Given the description of an element on the screen output the (x, y) to click on. 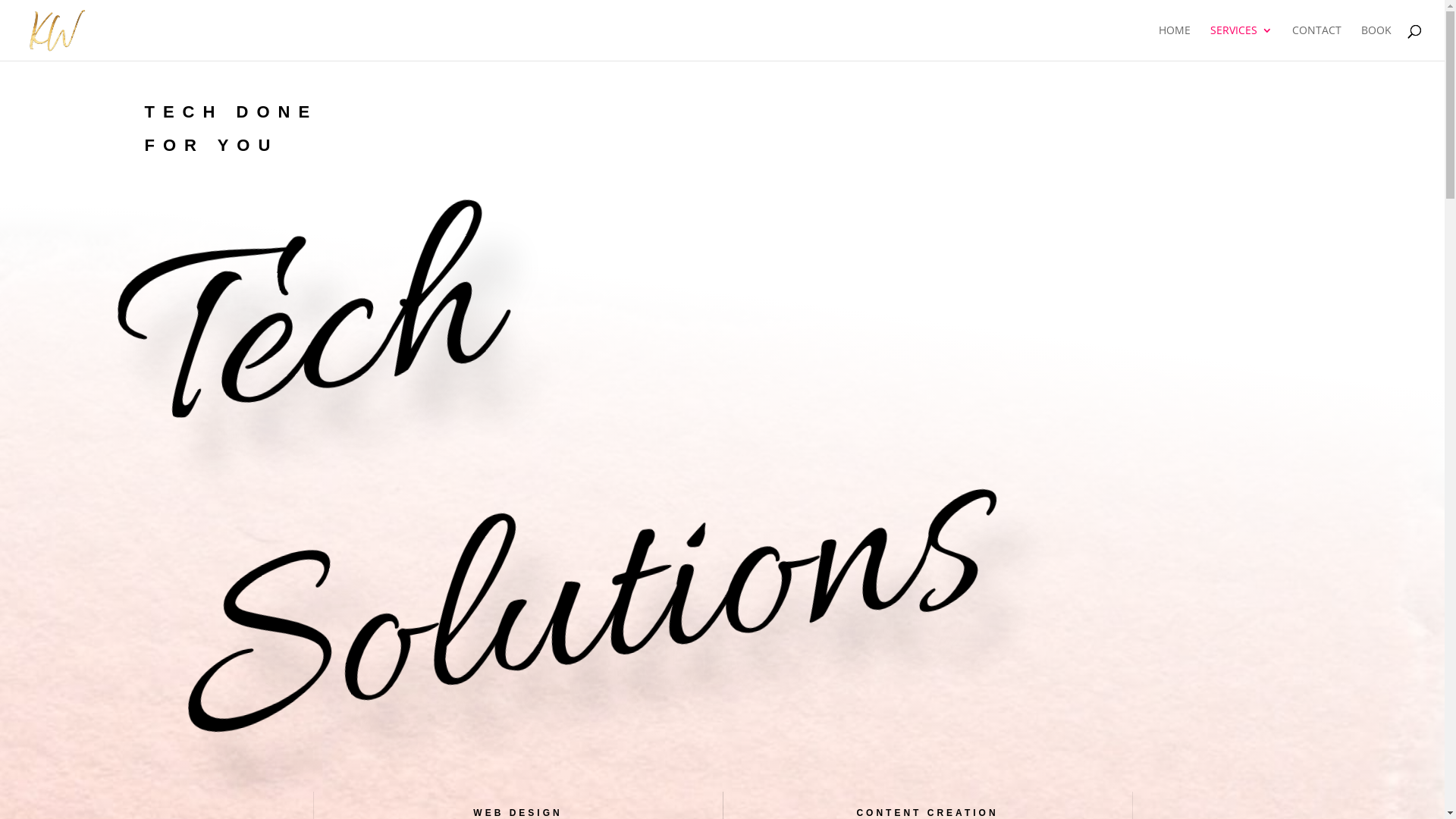
SERVICES Element type: text (1241, 42)
BOOK Element type: text (1376, 42)
HOME Element type: text (1174, 42)
CONTACT Element type: text (1316, 42)
